Given the description of an element on the screen output the (x, y) to click on. 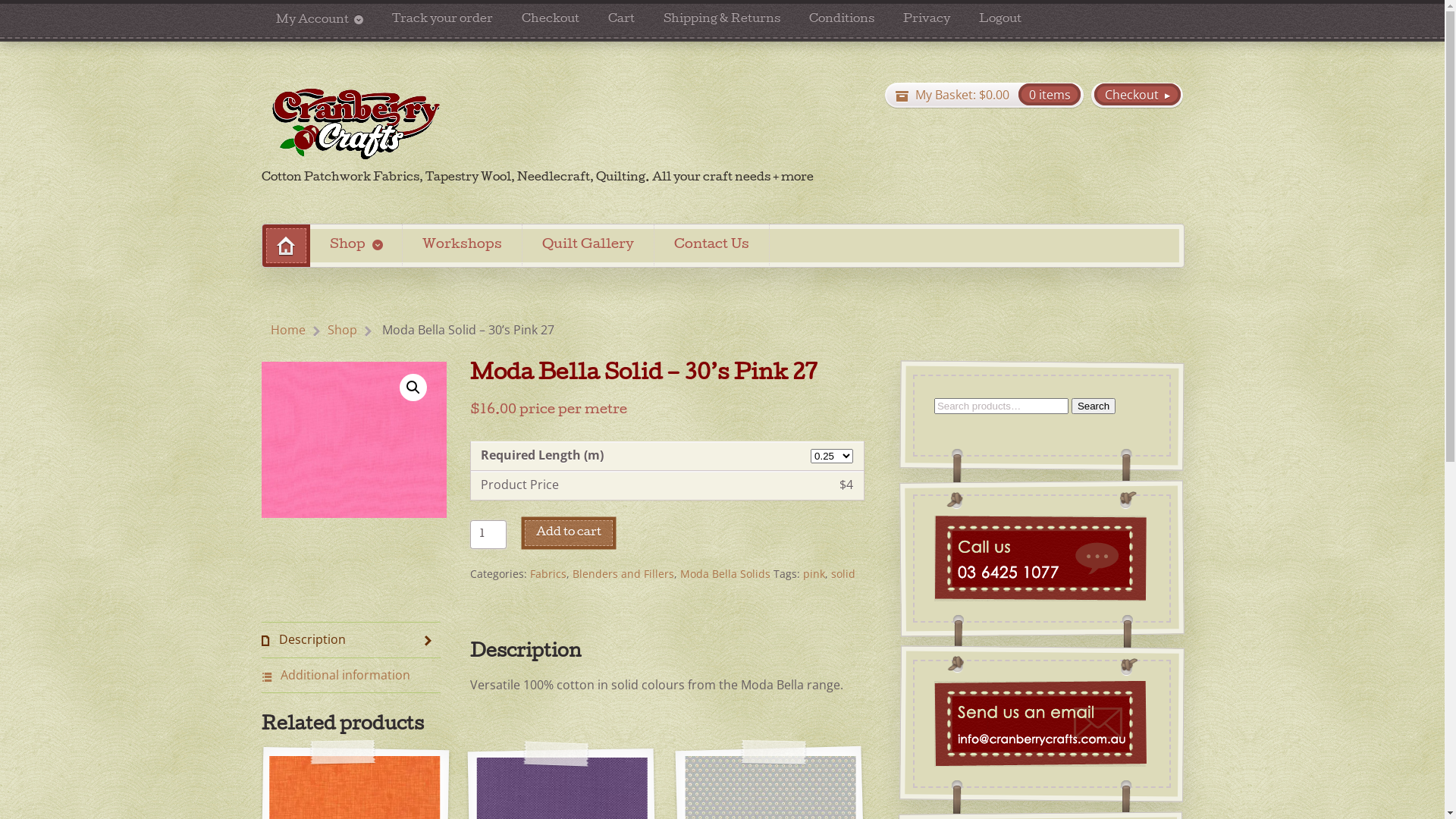
Contact Us Element type: text (711, 244)
Checkout Element type: text (550, 19)
Home Element type: text (288, 330)
Privacy Element type: text (926, 19)
Search Element type: text (1092, 406)
Checkout Element type: text (1137, 94)
27 30's pink Element type: hover (354, 439)
Conditions Element type: text (841, 19)
solid Element type: text (843, 573)
Additional information Element type: text (351, 675)
pink Element type: text (814, 573)
Shop Element type: text (342, 330)
Logout Element type: text (999, 19)
Home Element type: text (286, 245)
My Basket: $0.00 0 items Element type: text (983, 94)
Quilt Gallery Element type: text (587, 244)
Fabrics Element type: text (548, 573)
Add to cart Element type: text (567, 533)
Shipping & Returns Element type: text (721, 19)
Workshops Element type: text (461, 244)
Shop Element type: text (355, 244)
Blenders and Fillers Element type: text (623, 573)
Moda Bella Solids Element type: text (725, 573)
Track your order Element type: text (442, 19)
Description Element type: text (351, 640)
My Account Element type: text (319, 20)
Cart Element type: text (621, 19)
